Given the description of an element on the screen output the (x, y) to click on. 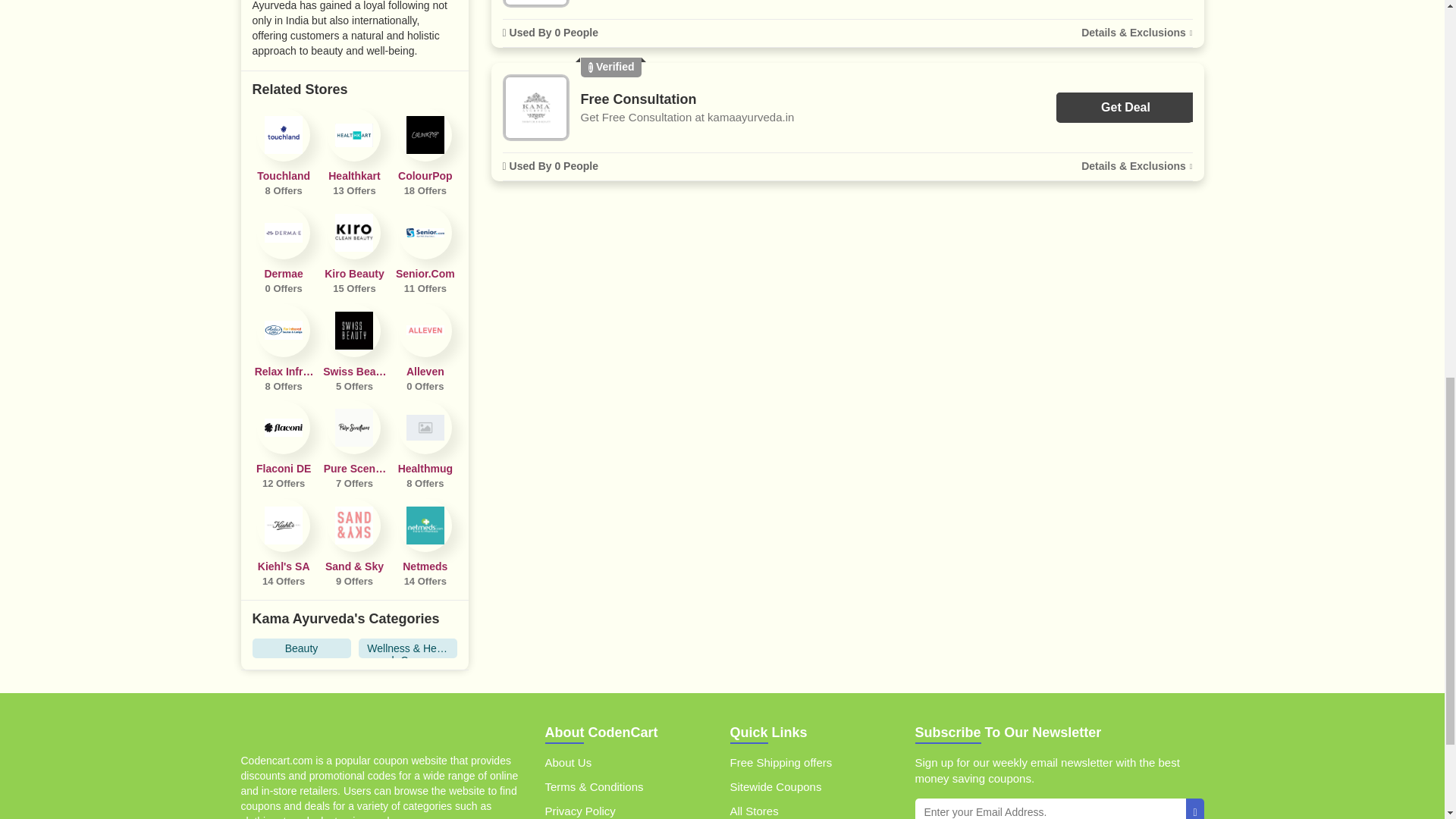
Beauty (300, 648)
